Given the description of an element on the screen output the (x, y) to click on. 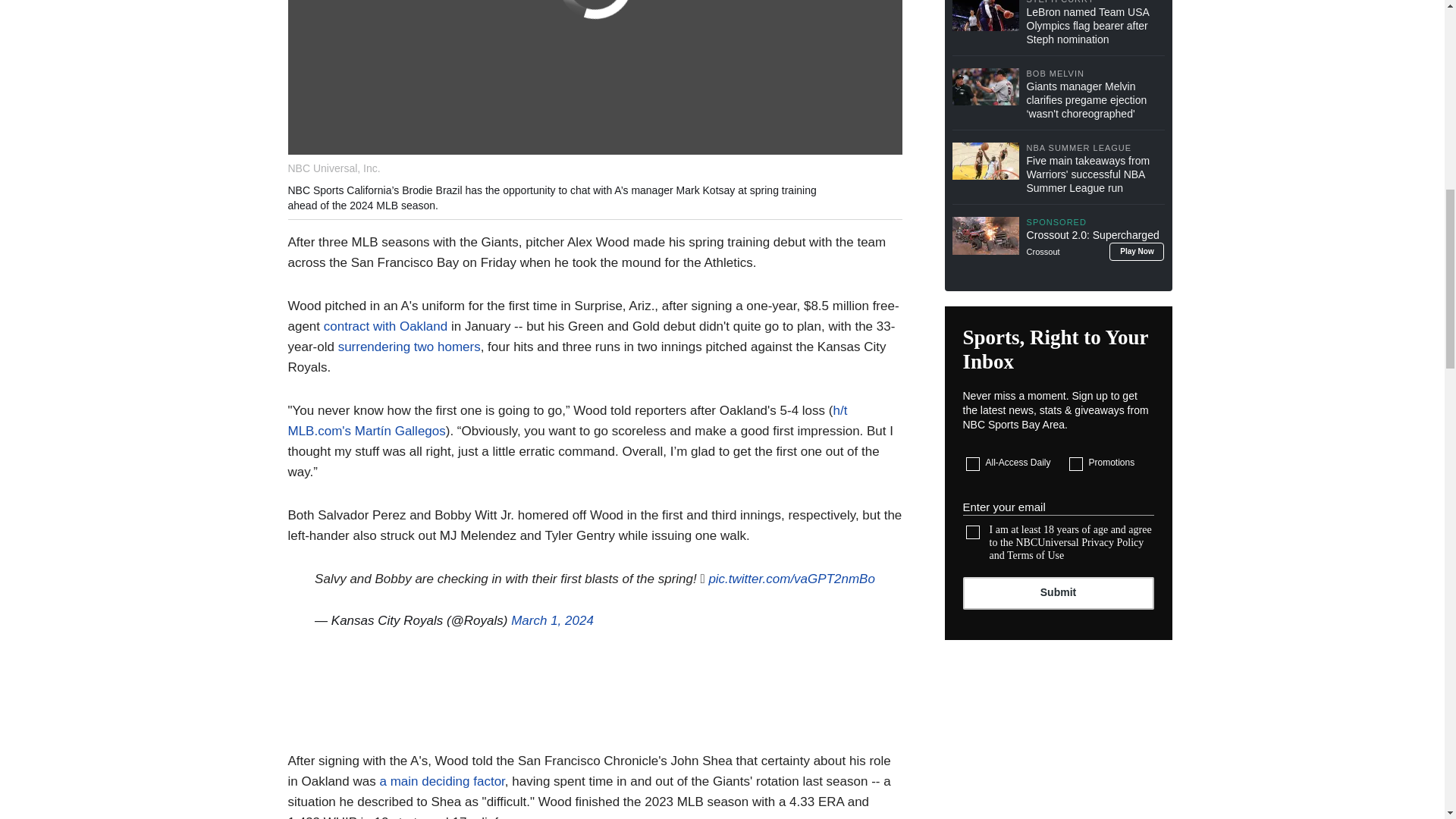
on (1075, 463)
on (972, 531)
on (972, 463)
surrendering two homers (408, 346)
contract with Oakland (384, 326)
a main deciding factor (440, 780)
March 1, 2024 (552, 620)
